Given the description of an element on the screen output the (x, y) to click on. 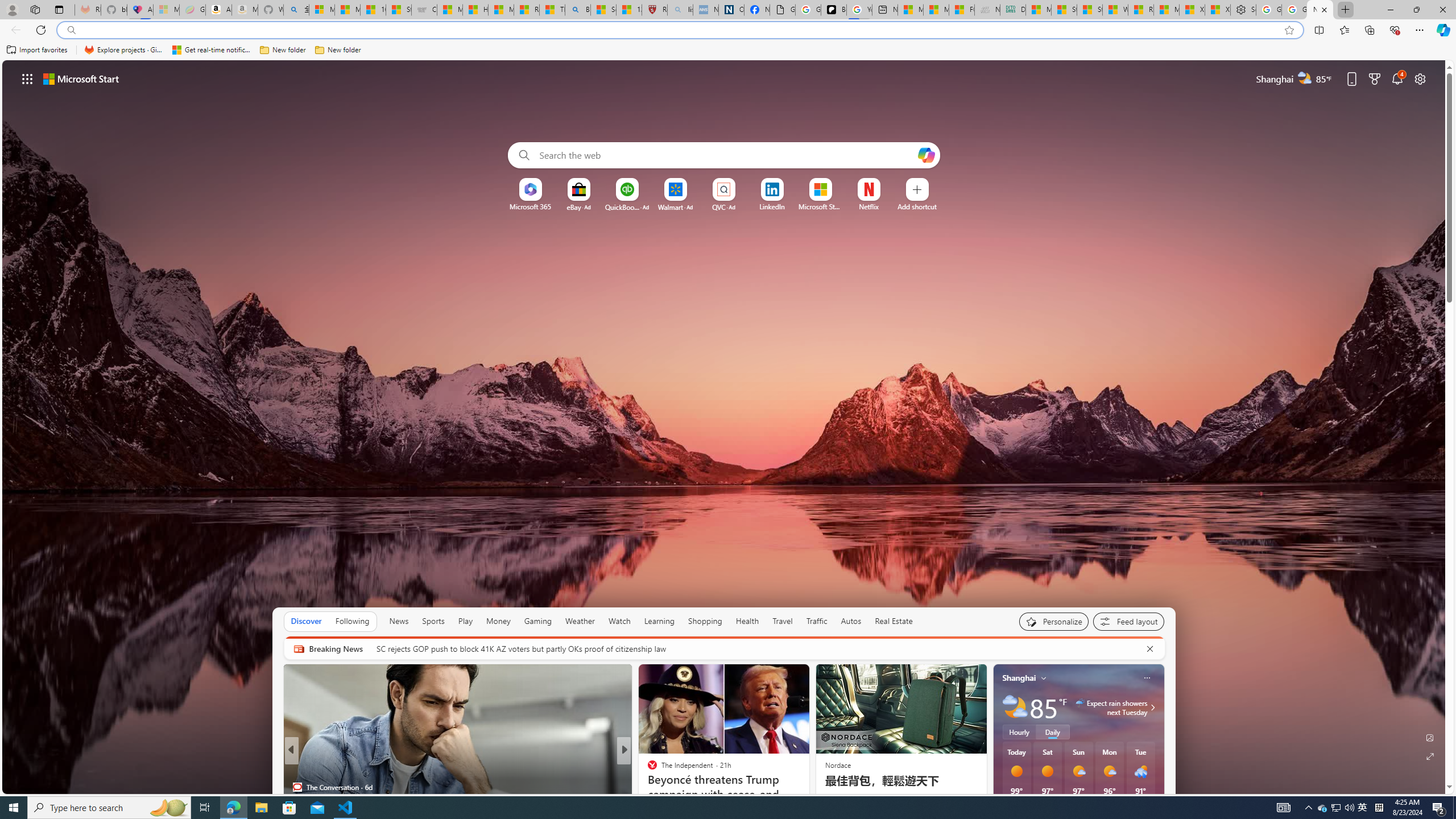
Search icon (70, 29)
Expect rain showers next Tuesday (1150, 707)
CNN (647, 768)
App launcher (27, 78)
Autos (850, 621)
